Given the description of an element on the screen output the (x, y) to click on. 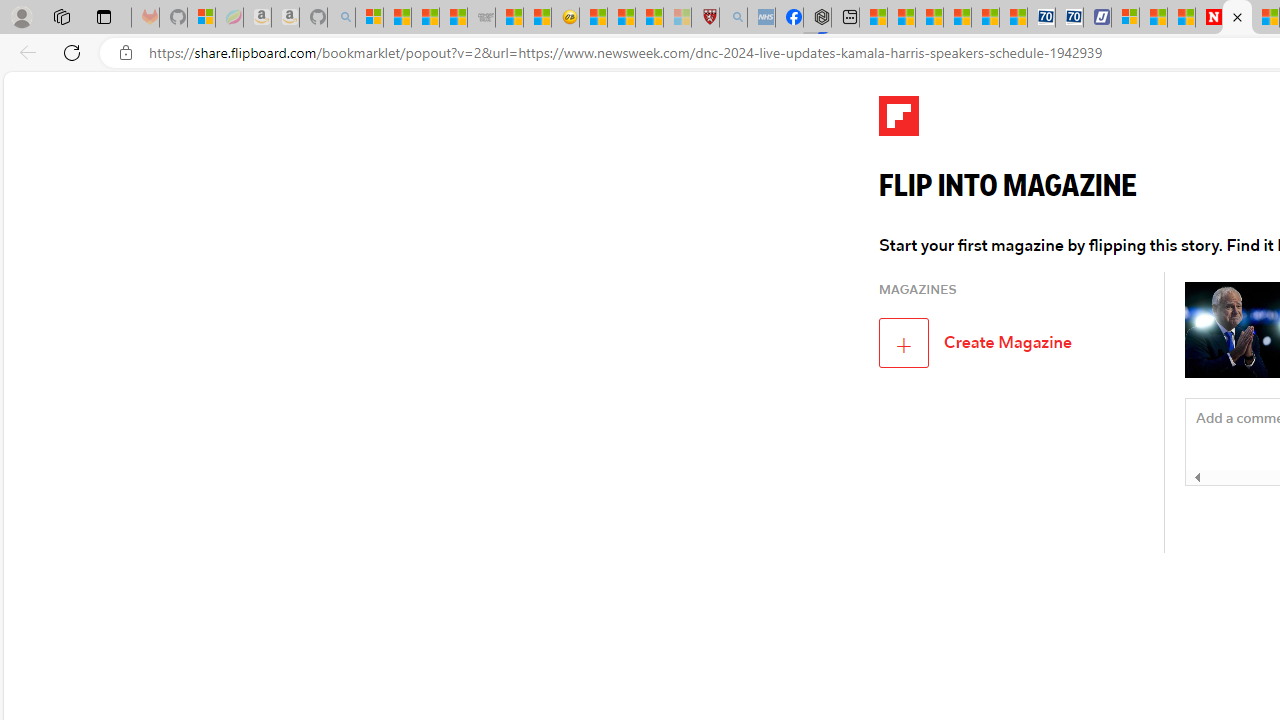
Flip into magazine - logged out (1236, 17)
NCL Adult Asthma Inhaler Choice Guideline - Sleeping (760, 17)
Cheap Hotels - Save70.com (1069, 17)
list of asthma inhalers uk - Search - Sleeping (733, 17)
MSNBC - MSN (425, 17)
12 Popular Science Lies that Must be Corrected - Sleeping (677, 17)
Robert H. Shmerling, MD - Harvard Health (705, 17)
